Given the description of an element on the screen output the (x, y) to click on. 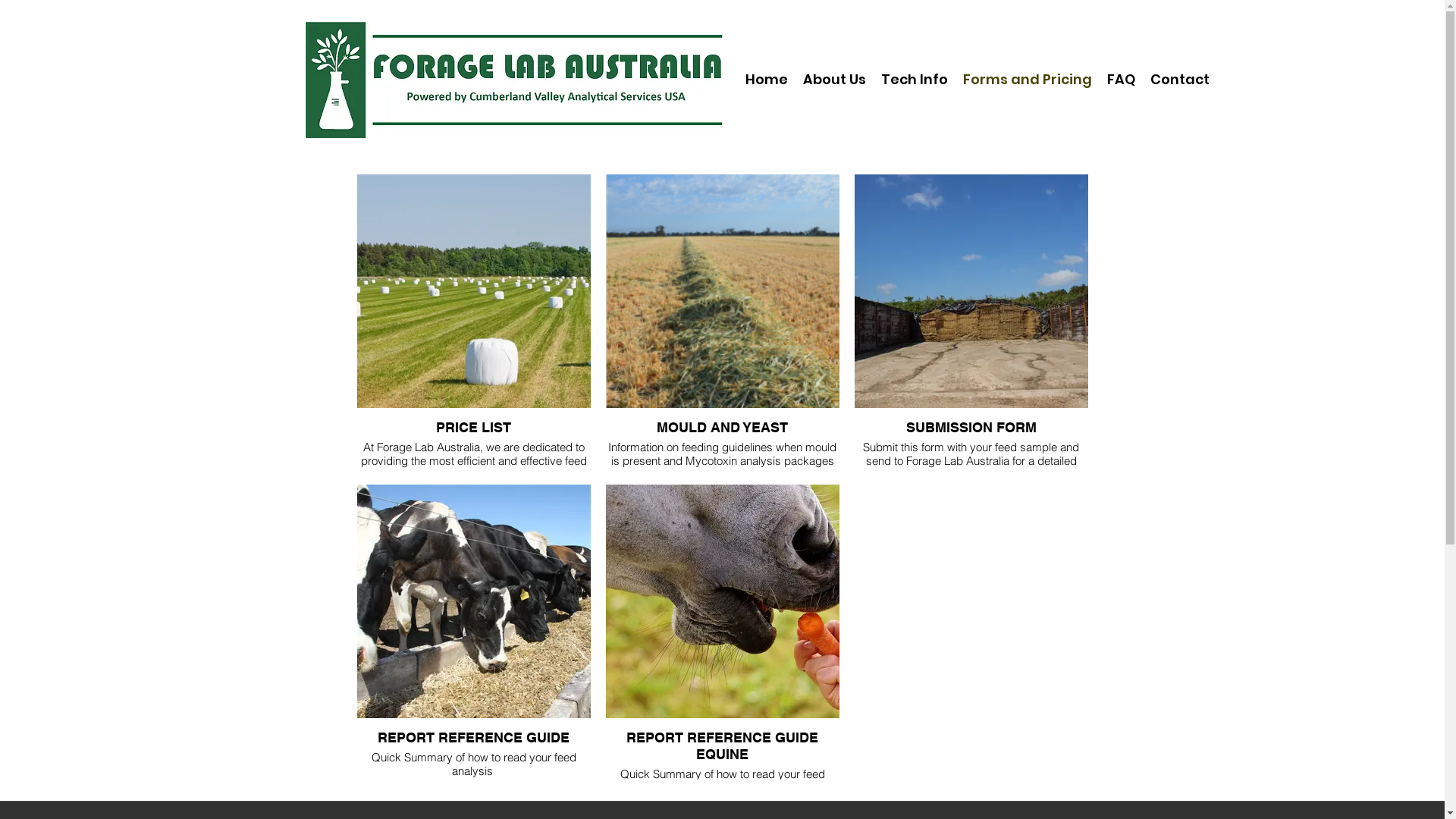
About Us Element type: text (833, 79)
Forms and Pricing Element type: text (1027, 79)
Contact Element type: text (1179, 79)
Tech Info Element type: text (914, 79)
FAQ Element type: text (1120, 79)
Home Element type: text (765, 79)
